Given the description of an element on the screen output the (x, y) to click on. 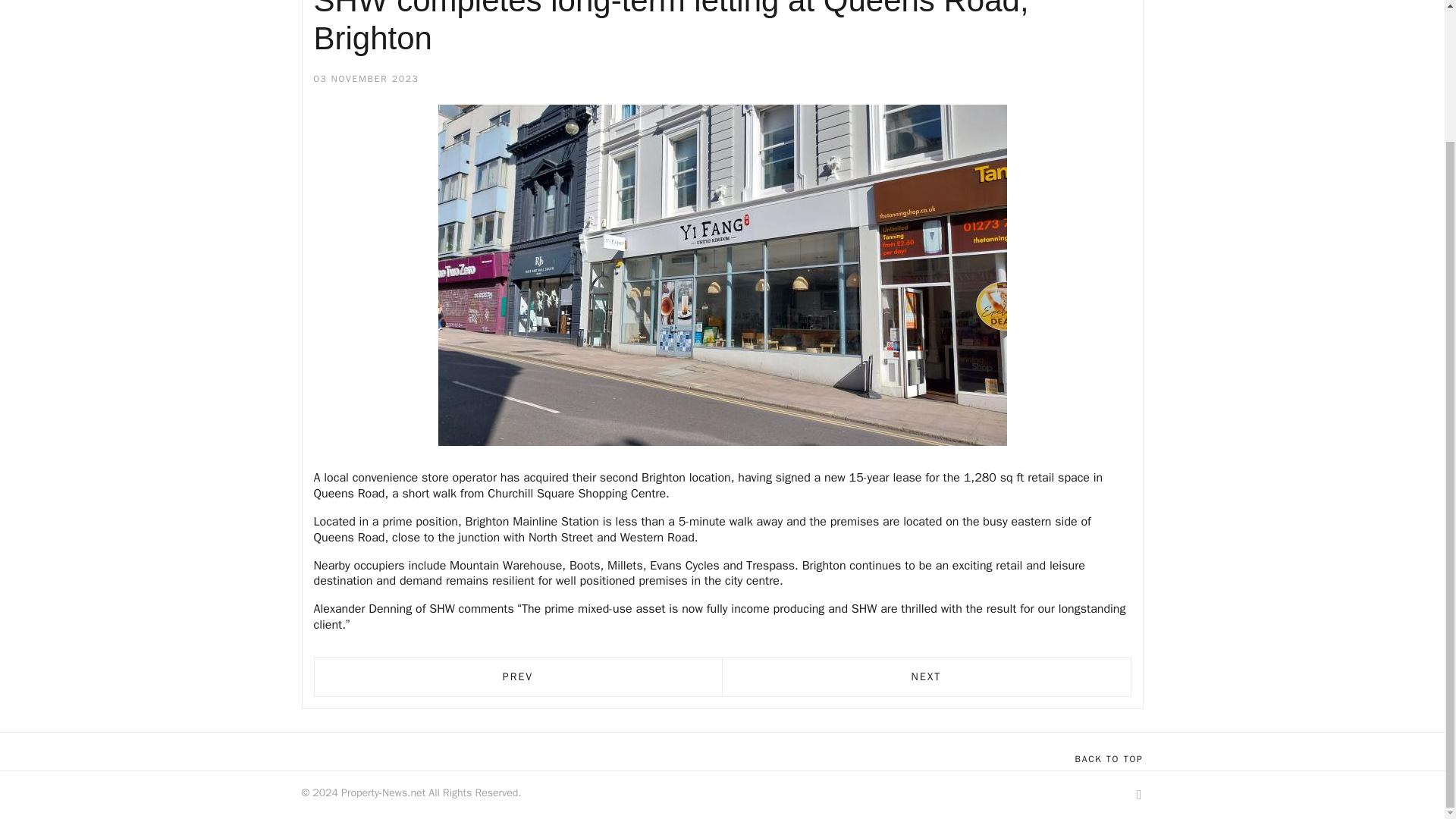
BACK TO TOP (1108, 758)
Published: 03 November 2023 (366, 79)
BACK TO TOP (1108, 758)
PREV (517, 677)
NEXT (926, 677)
